Given the description of an element on the screen output the (x, y) to click on. 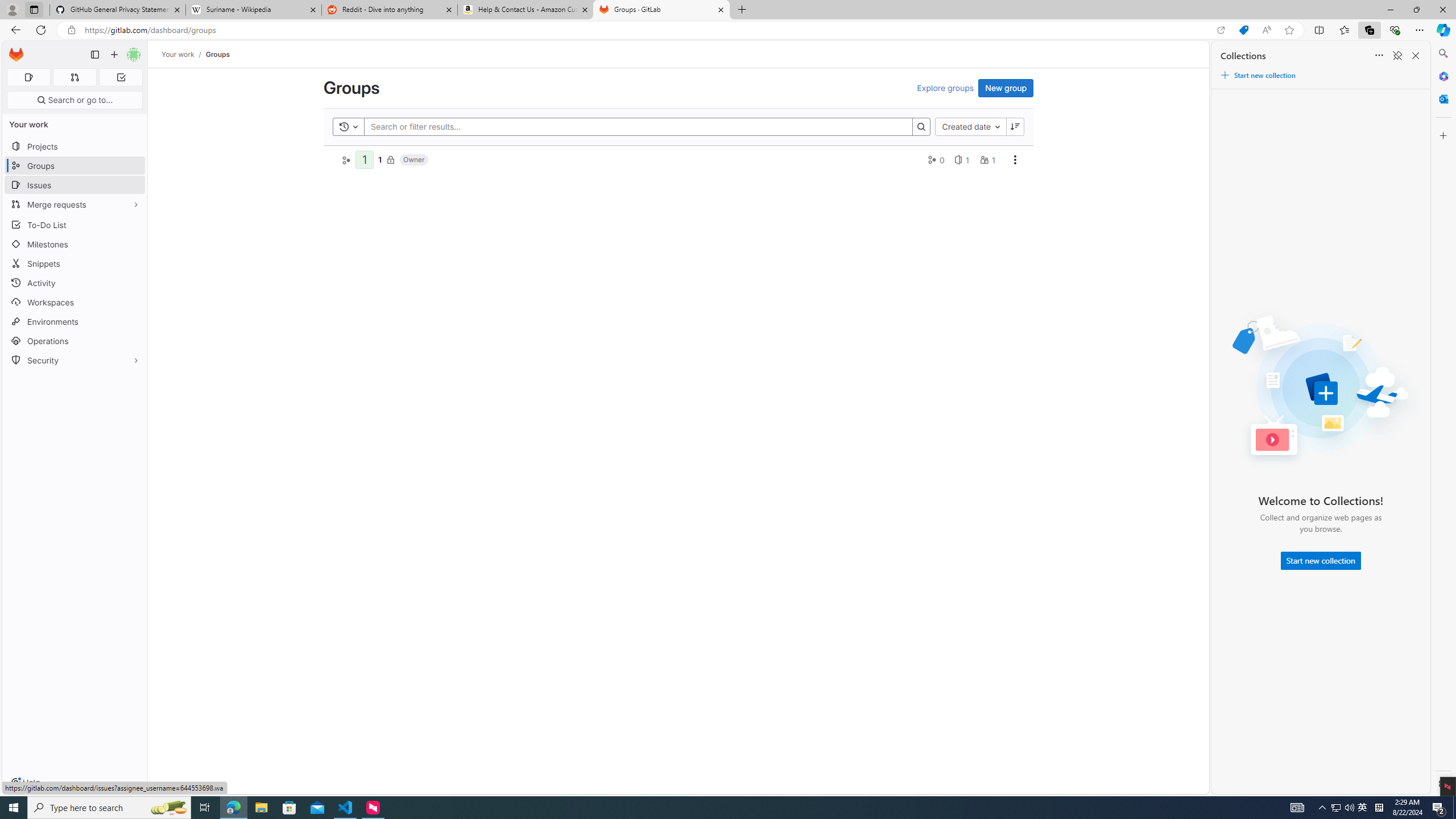
To-Do List (74, 224)
Activity (74, 282)
11Owner011 (678, 158)
Your work (178, 53)
Explore groups (945, 87)
Issues (74, 185)
New group (1005, 87)
